Given the description of an element on the screen output the (x, y) to click on. 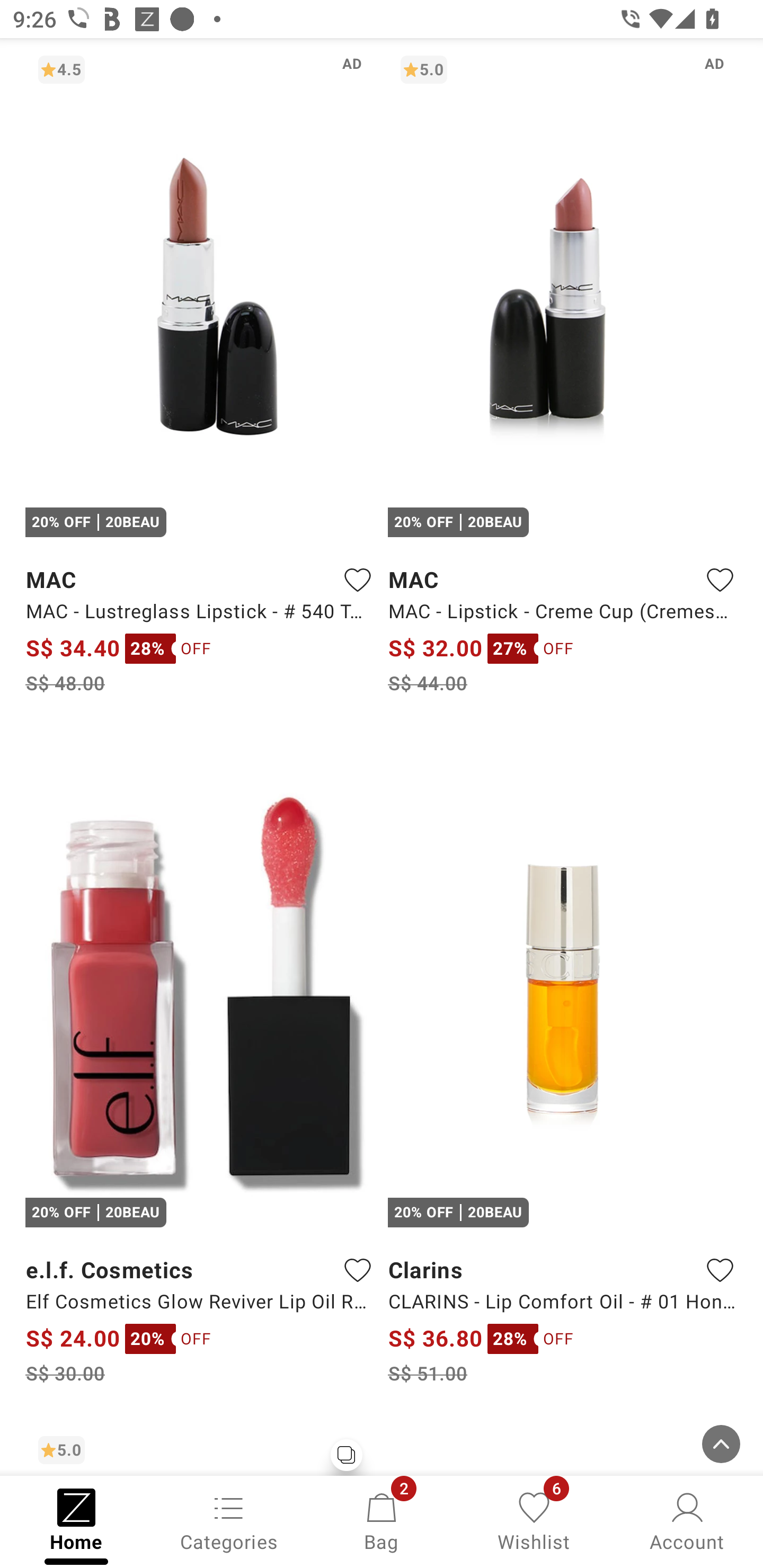
Categories (228, 1519)
Bag, 2 new notifications Bag (381, 1519)
Wishlist, 6 new notifications Wishlist (533, 1519)
Account (686, 1519)
